Given the description of an element on the screen output the (x, y) to click on. 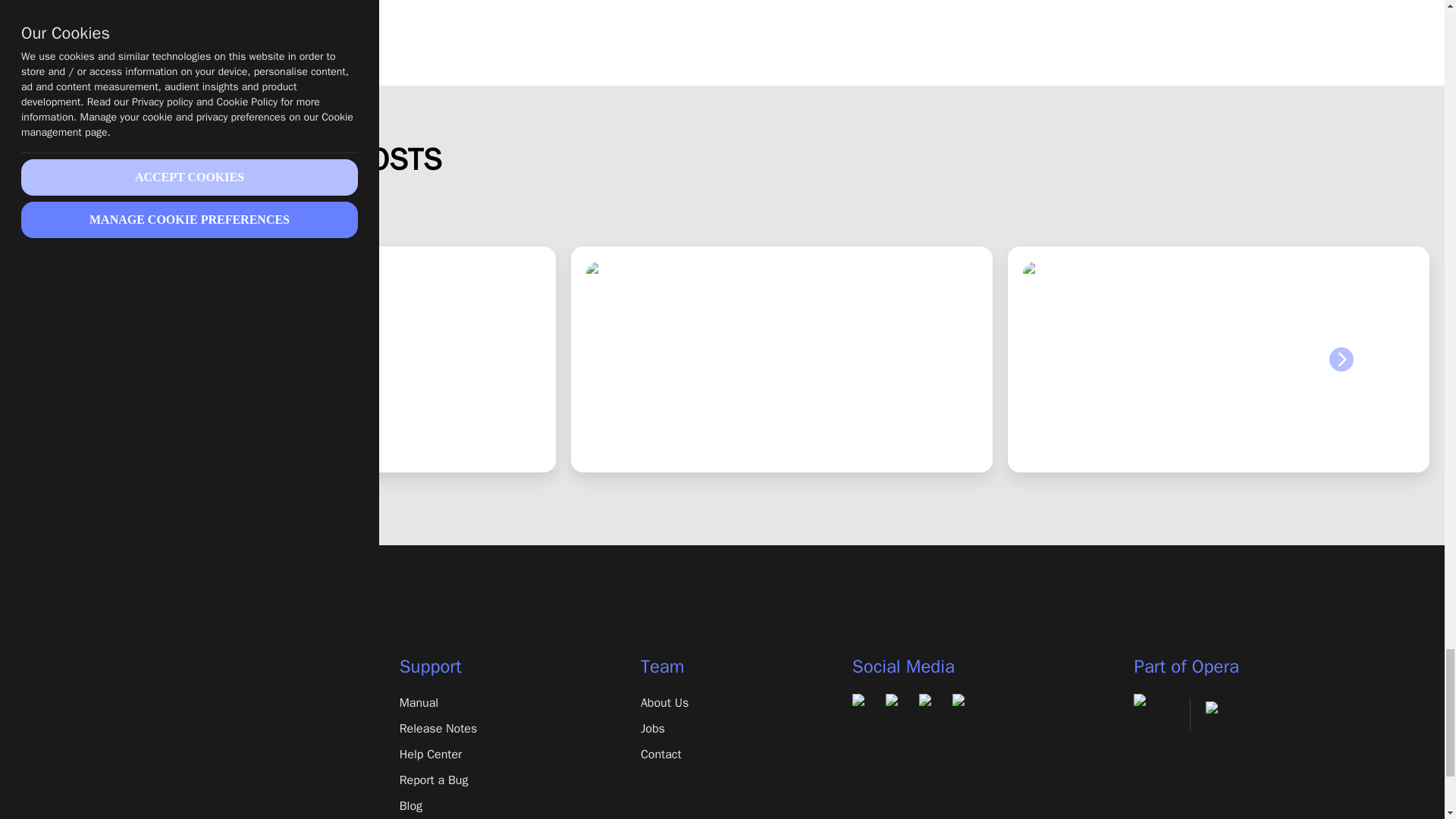
Features (187, 728)
Pricing (187, 754)
Asset Bundles (187, 805)
Download (187, 702)
Marketplace (187, 780)
